Given the description of an element on the screen output the (x, y) to click on. 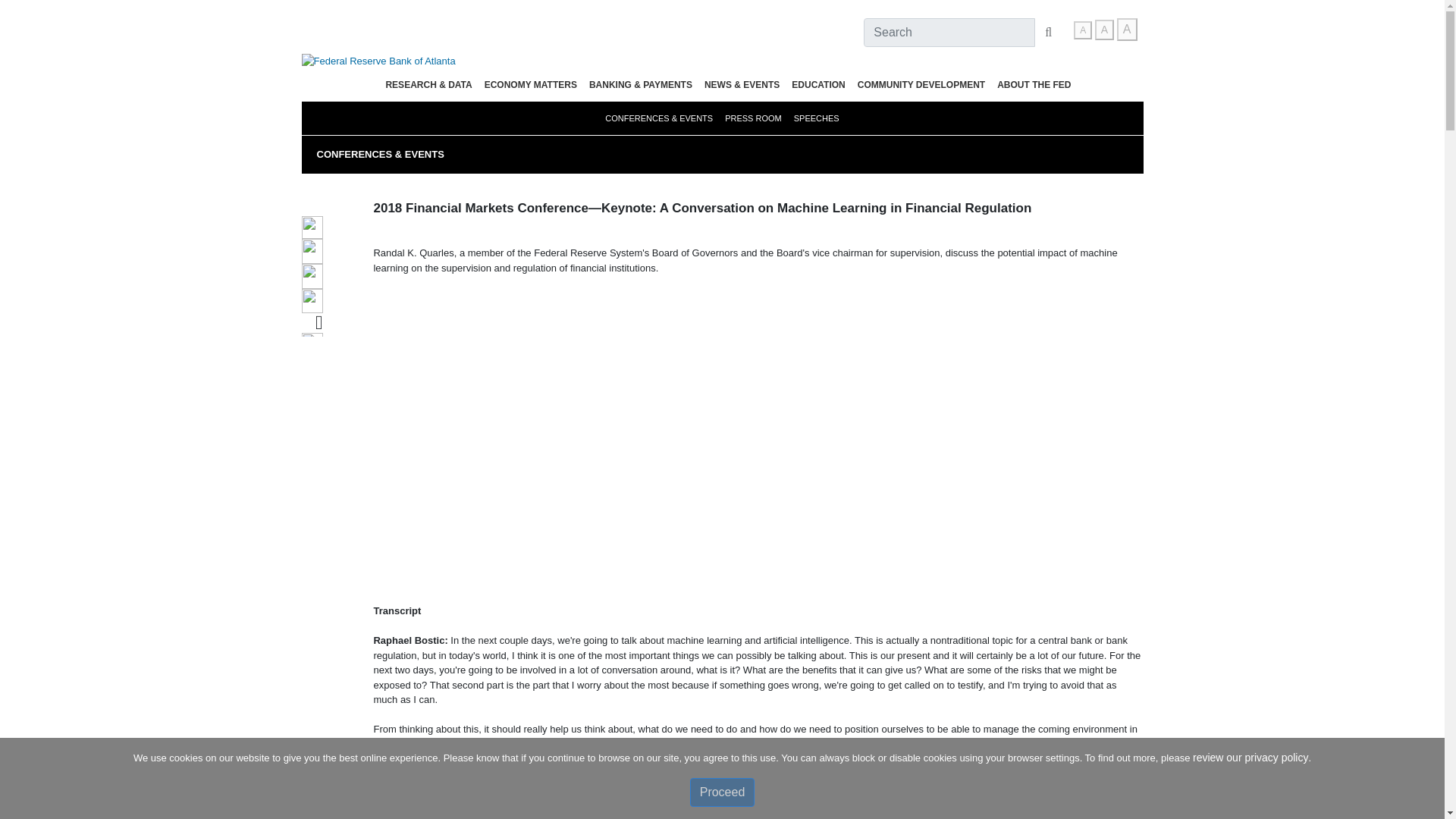
A (1103, 29)
Link to privacy policy (1250, 757)
ECONOMY MATTERS (531, 84)
A (1083, 30)
A (1126, 29)
Facebook share (312, 227)
